Given the description of an element on the screen output the (x, y) to click on. 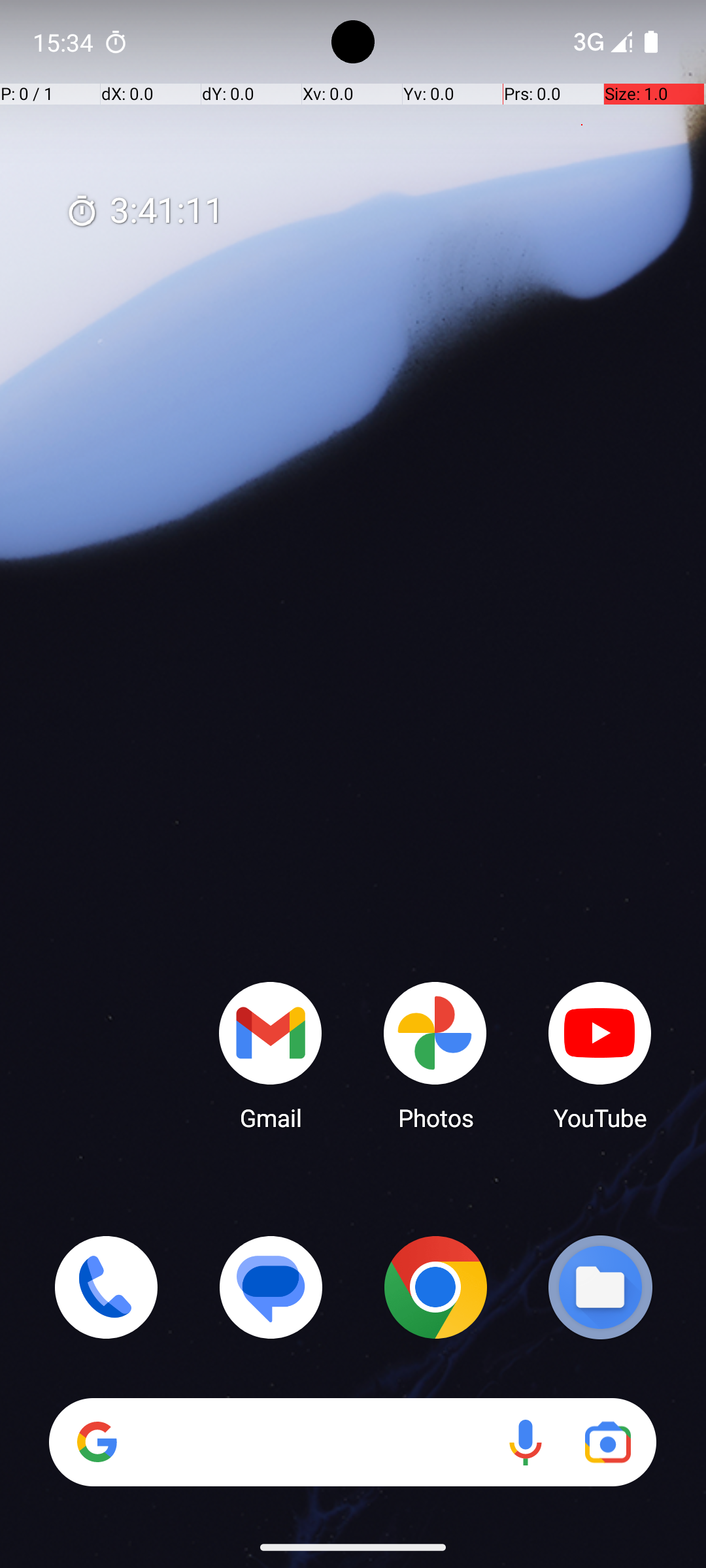
3:41:11 Element type: android.widget.TextView (144, 210)
